Given the description of an element on the screen output the (x, y) to click on. 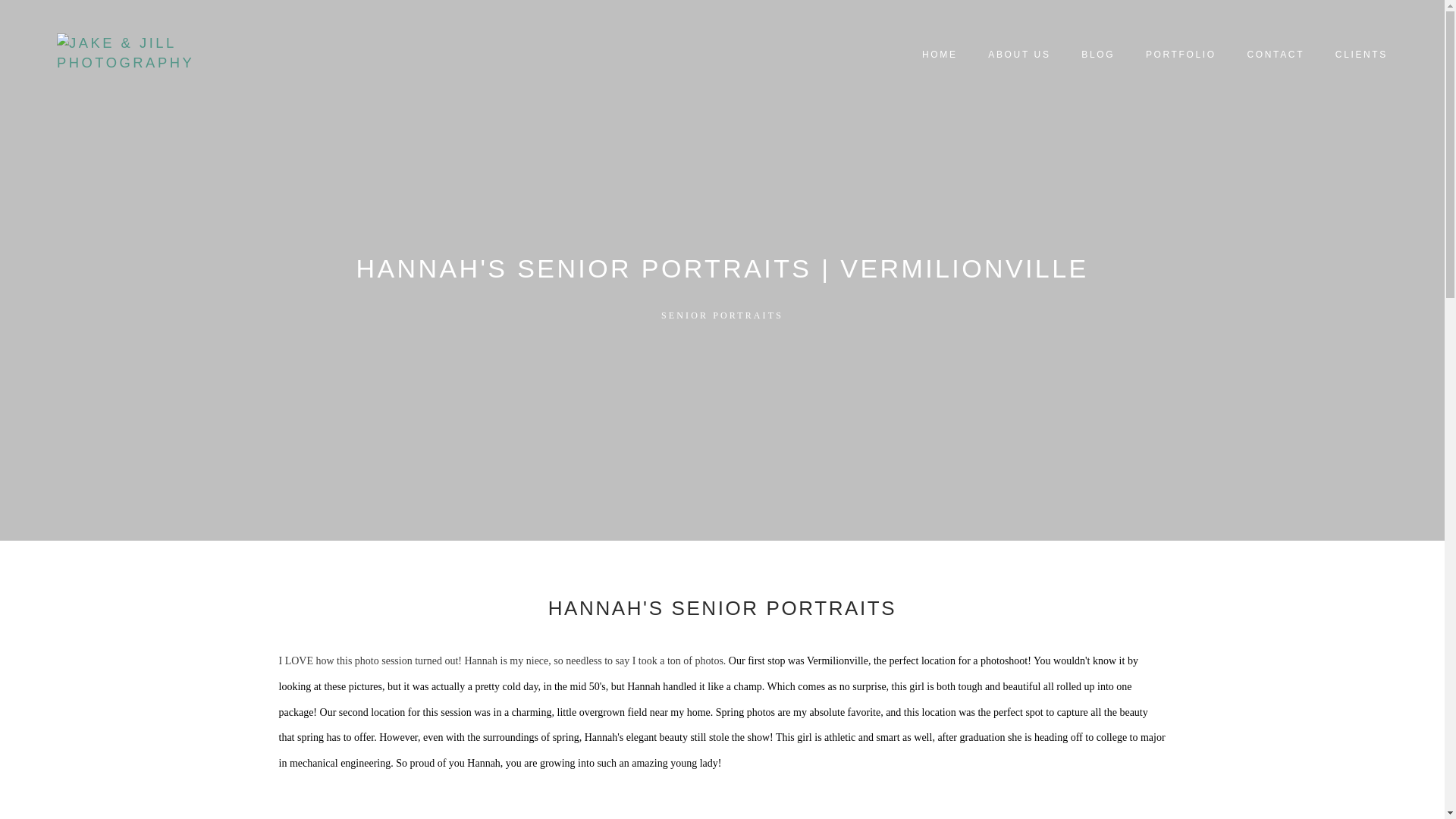
BLOG (1098, 54)
HOME (940, 54)
ABOUT US (1019, 54)
PORTFOLIO (1181, 54)
CONTACT (1275, 54)
SENIOR PORTRAITS (722, 315)
CLIENTS (1361, 54)
